Given the description of an element on the screen output the (x, y) to click on. 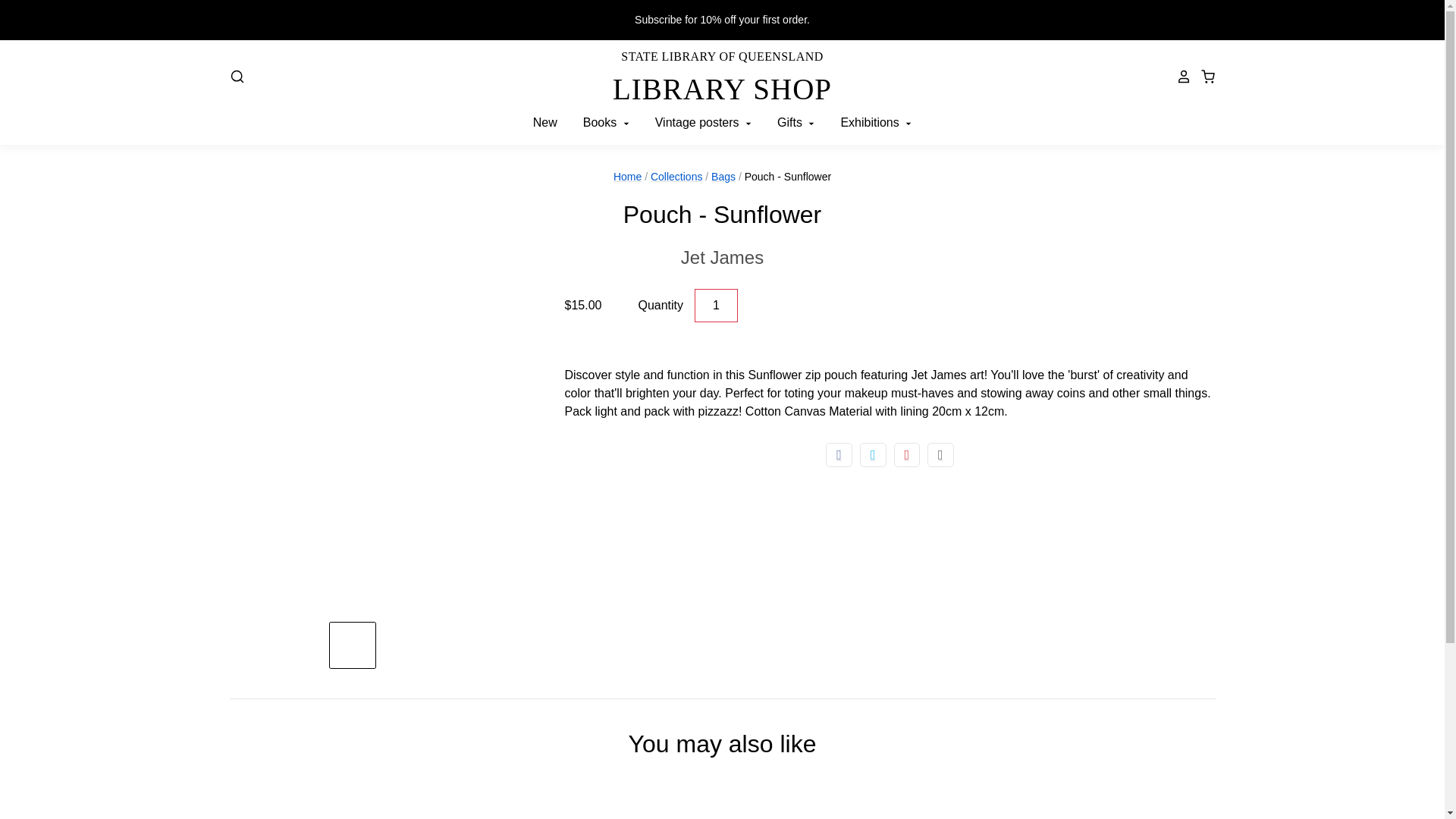
1 (715, 305)
